Given the description of an element on the screen output the (x, y) to click on. 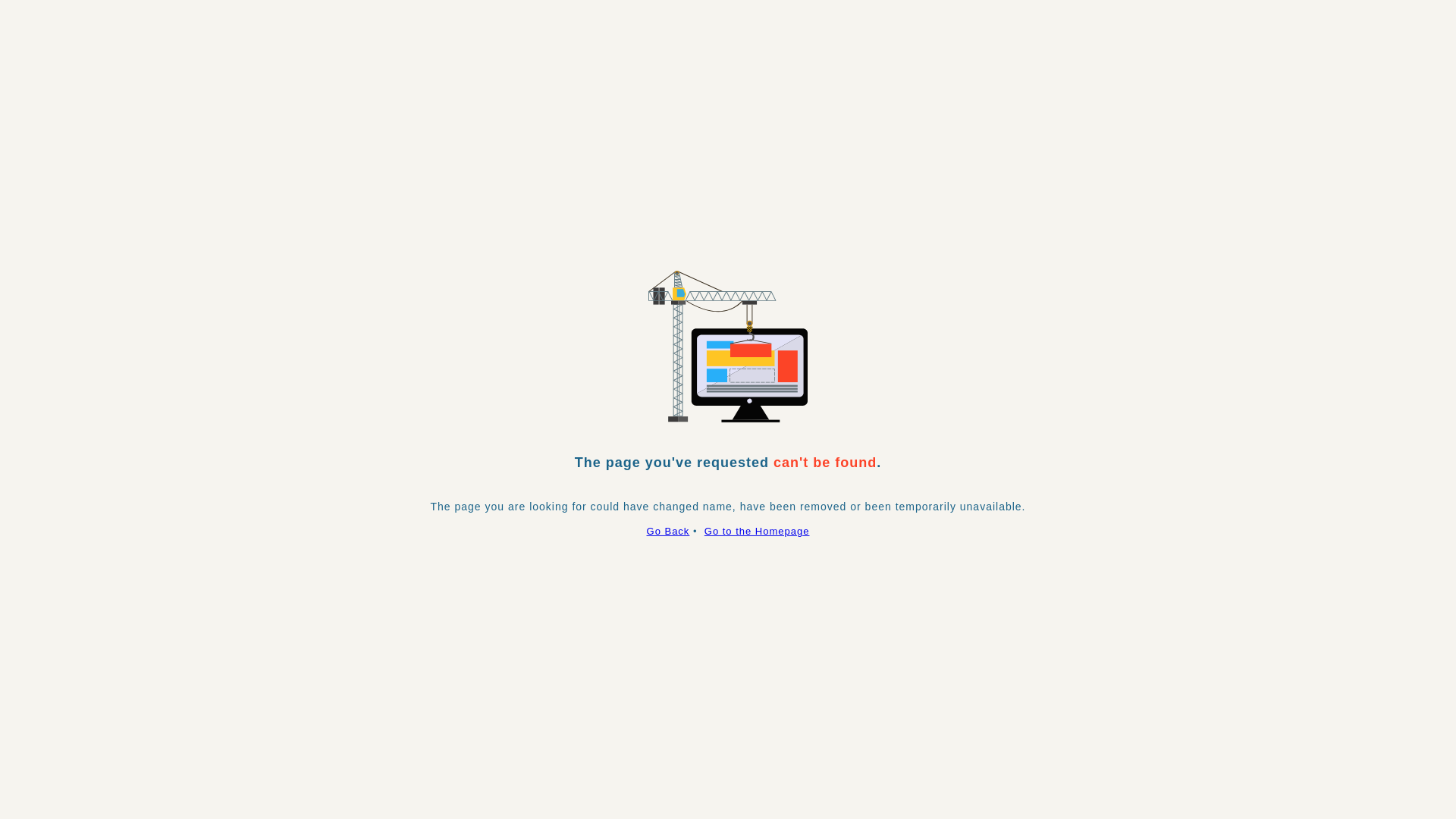
Go to the Homepage Element type: text (756, 530)
Go Back Element type: text (668, 530)
